Given the description of an element on the screen output the (x, y) to click on. 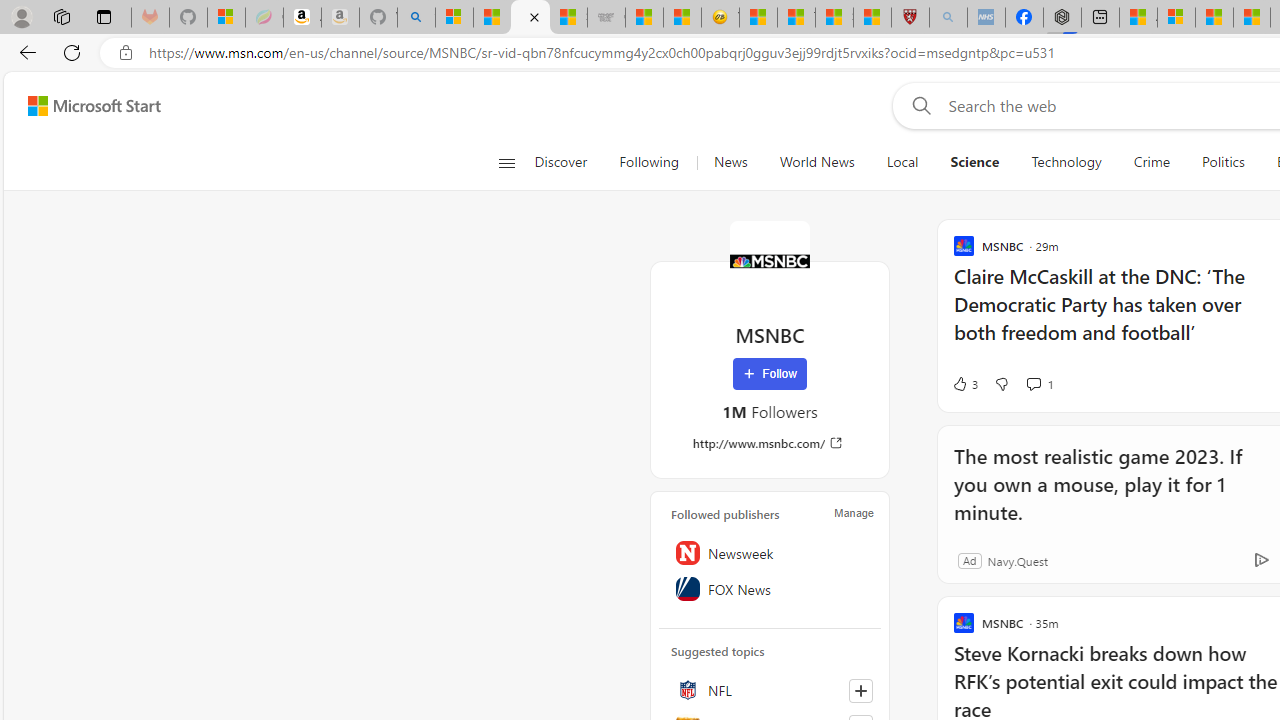
Science - MSN (833, 17)
Recipes - MSN (757, 17)
http://www.msnbc.com/ (769, 443)
Politics (1223, 162)
Technology (1066, 162)
NFL (770, 690)
list of asthma inhalers uk - Search - Sleeping (948, 17)
Skip to footer (82, 105)
